Given the description of an element on the screen output the (x, y) to click on. 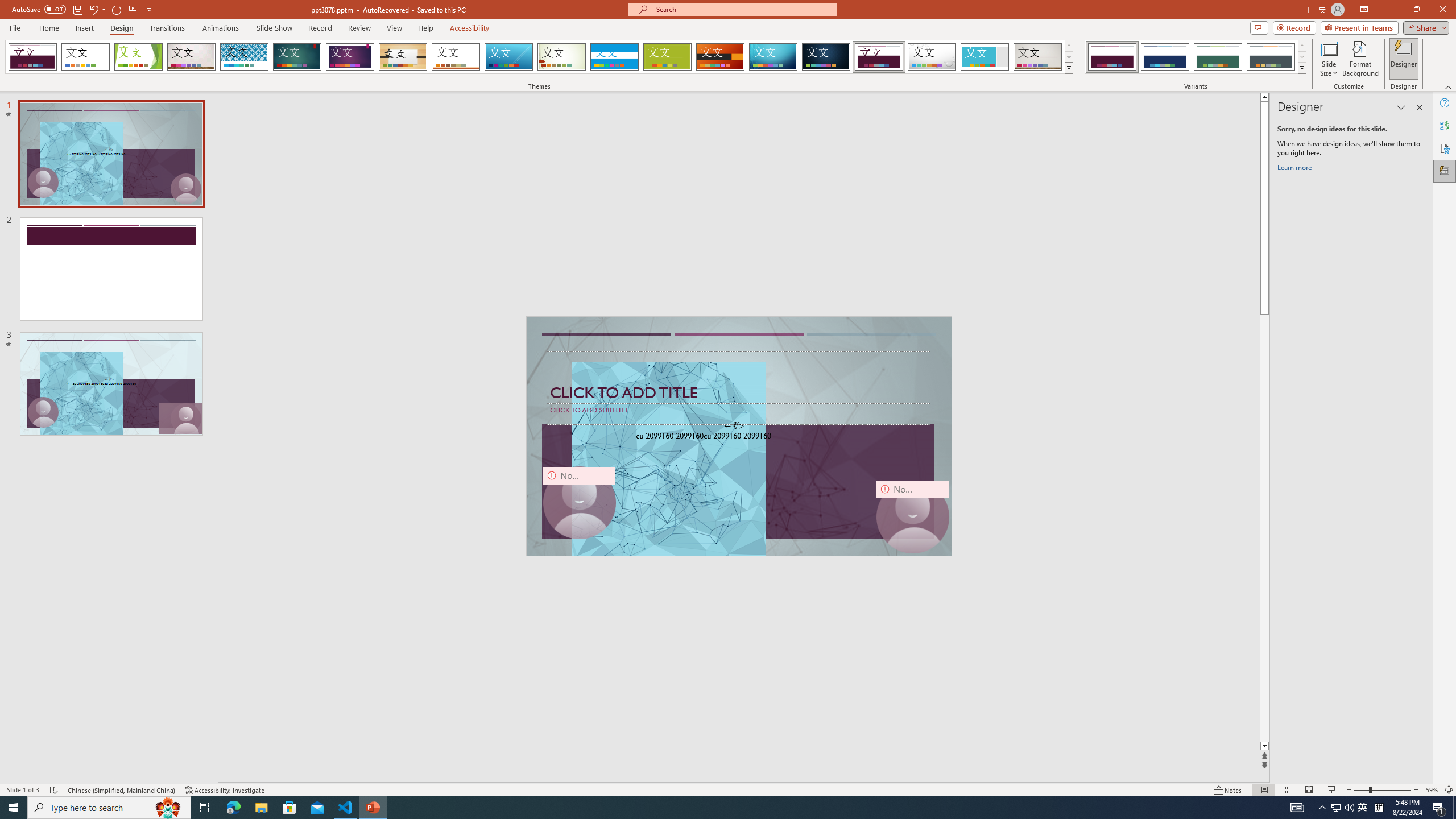
Camera 9, No camera detected. (578, 503)
Variants (1301, 67)
Banded (614, 56)
Basis (667, 56)
Organic (403, 56)
Facet (138, 56)
Learn more (1295, 169)
